Given the description of an element on the screen output the (x, y) to click on. 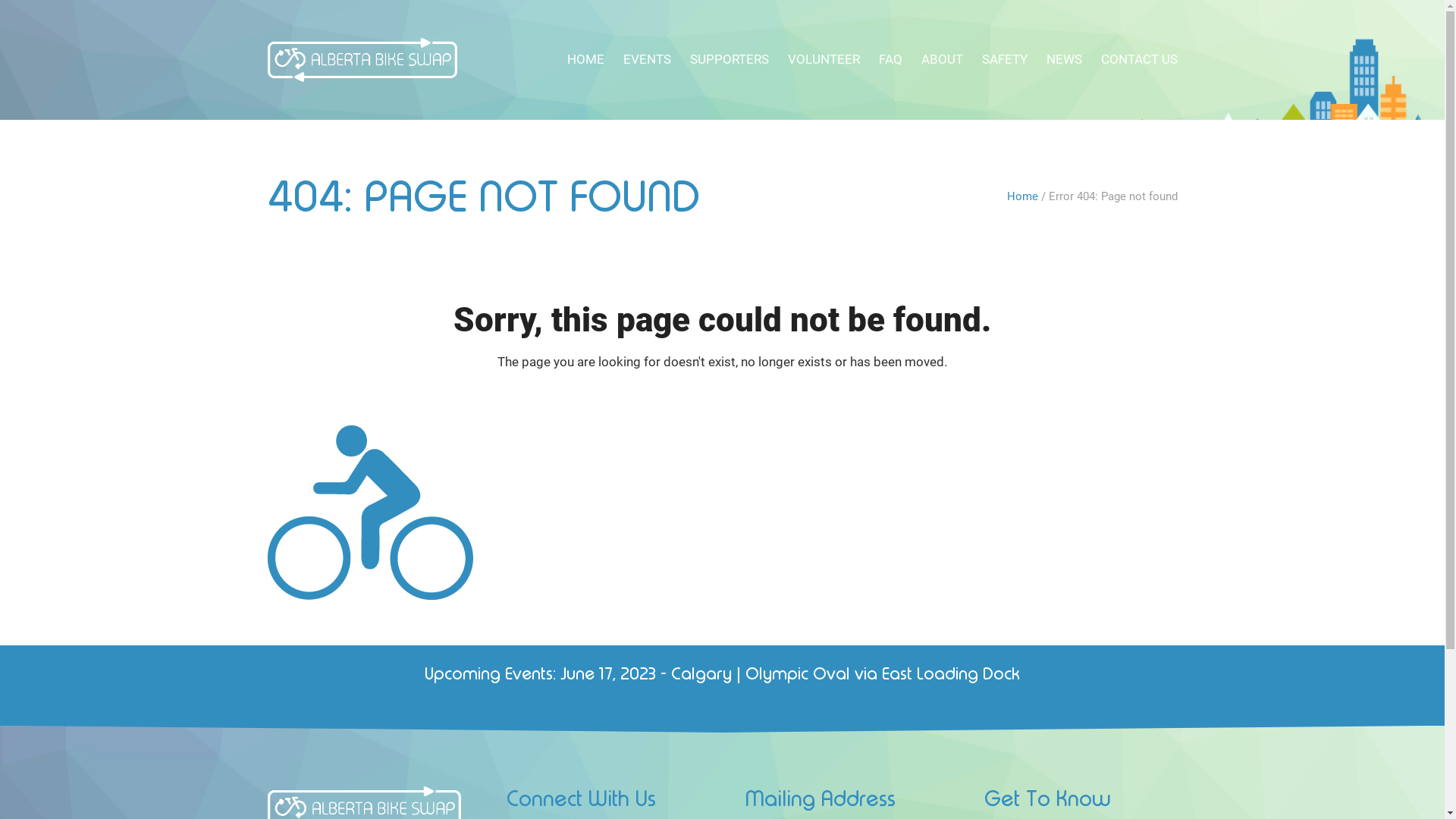
SUPPORTERS Element type: text (729, 59)
HOME Element type: text (585, 59)
CONTACT US Element type: text (1139, 59)
Home Element type: text (1022, 196)
SAFETY Element type: text (1003, 59)
EVENTS Element type: text (647, 59)
VOLUNTEER Element type: text (823, 59)
footer-bike Element type: hover (369, 512)
ABOUT Element type: text (941, 59)
NEWS Element type: text (1064, 59)
FAQ Element type: text (889, 59)
